Given the description of an element on the screen output the (x, y) to click on. 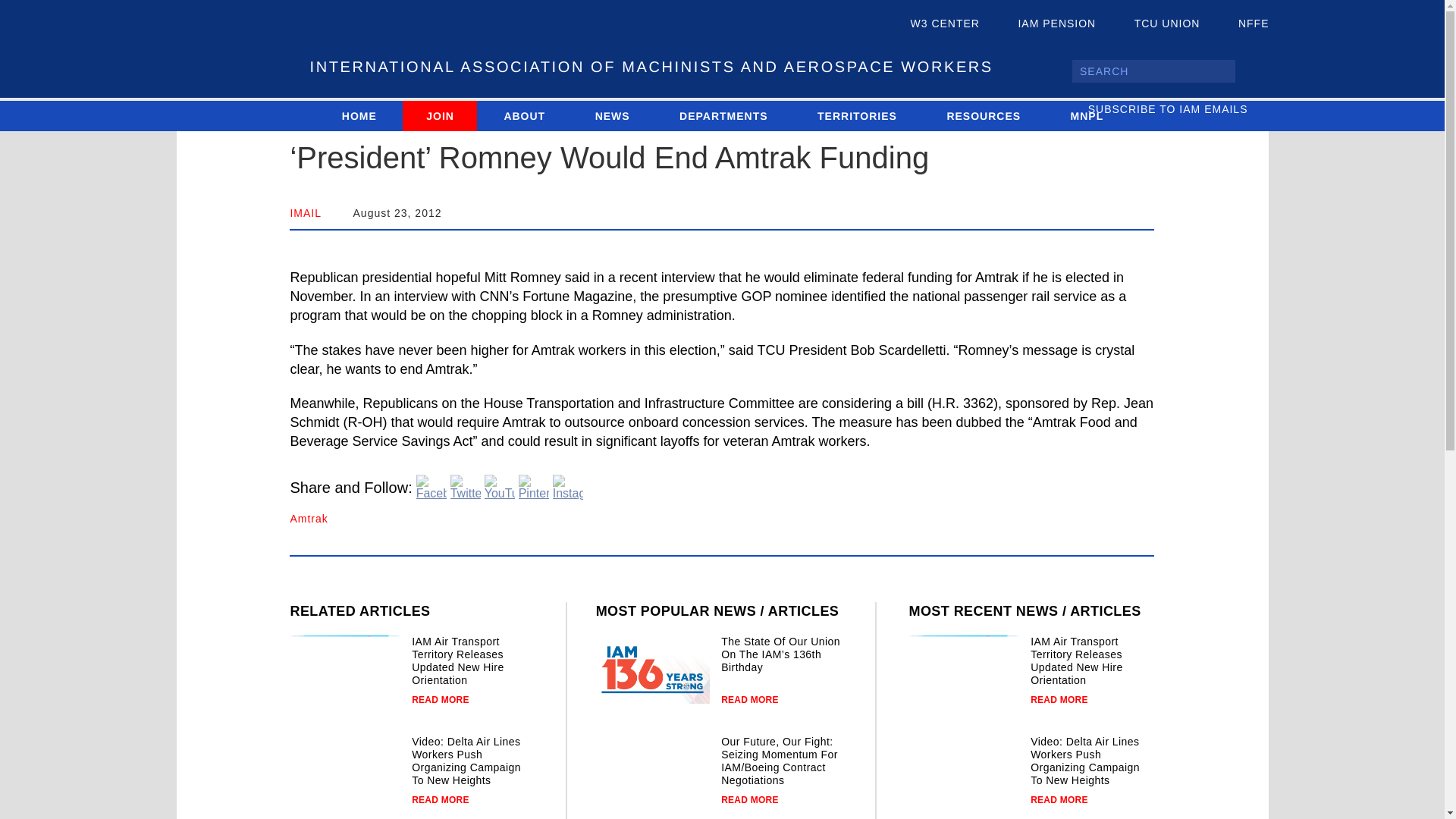
HOME (358, 115)
MNPL (1086, 115)
ABOUT (523, 115)
Pinterest (533, 487)
JOIN (440, 115)
TERRITORIES (856, 115)
TCU UNION (1153, 24)
IAM PENSION (1043, 24)
IMAIL (305, 213)
There is a 4 character minimum for any search. (1152, 70)
SUBSCRIBE TO IAM EMAILS (1178, 108)
W3 CENTER (932, 24)
Instagram (568, 487)
NFFE (1240, 24)
YouTube (499, 487)
